Given the description of an element on the screen output the (x, y) to click on. 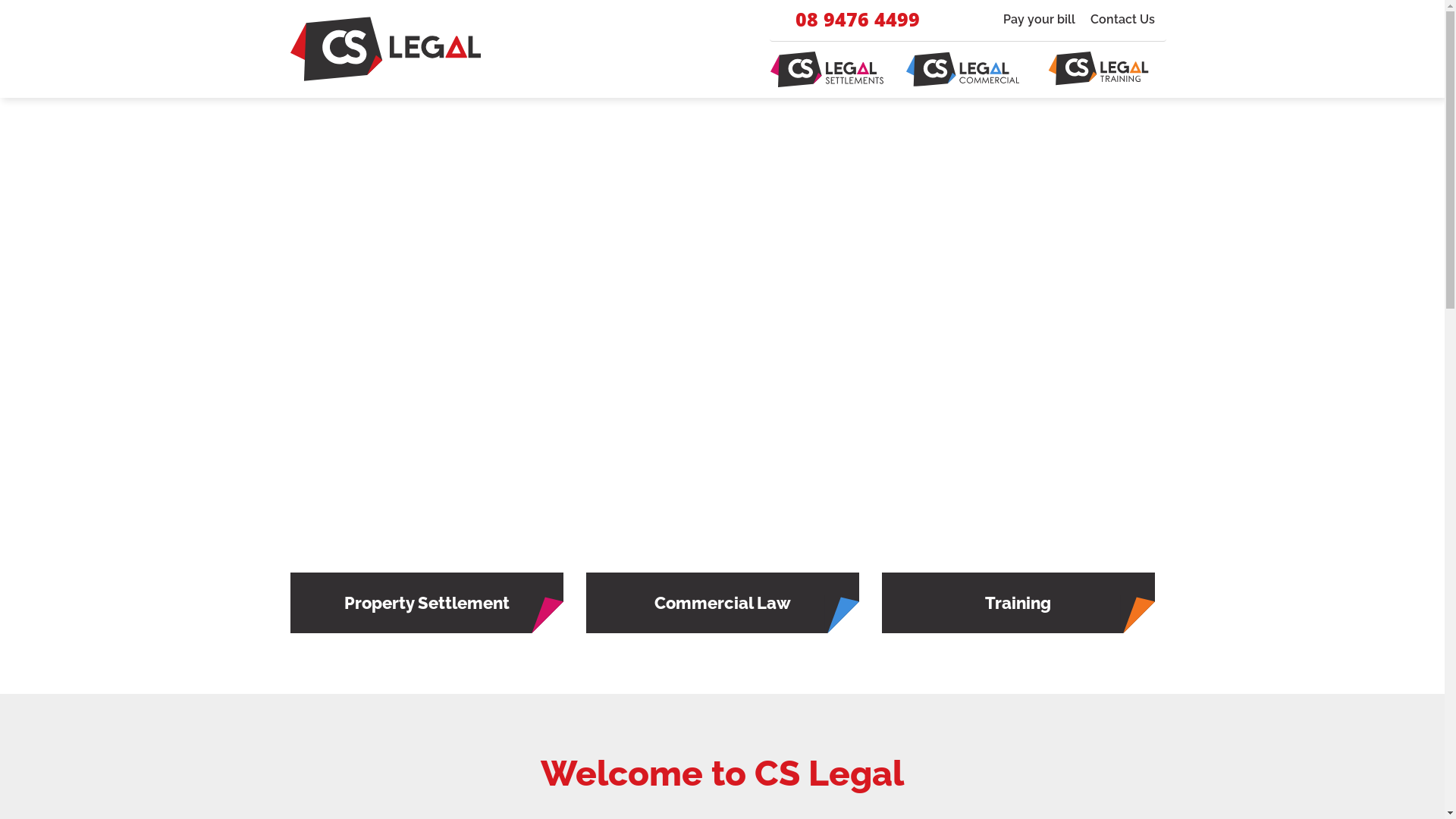
Commercial Law Element type: text (721, 603)
Property Settlement Element type: text (425, 603)
Contact Us Element type: text (1122, 18)
CS Legal - Settlements Element type: text (384, 48)
Training Element type: text (1017, 603)
Pay your bill Element type: text (1038, 18)
08 9476 4499 Element type: text (847, 18)
CS Legal - Training Element type: hover (1097, 69)
